Given the description of an element on the screen output the (x, y) to click on. 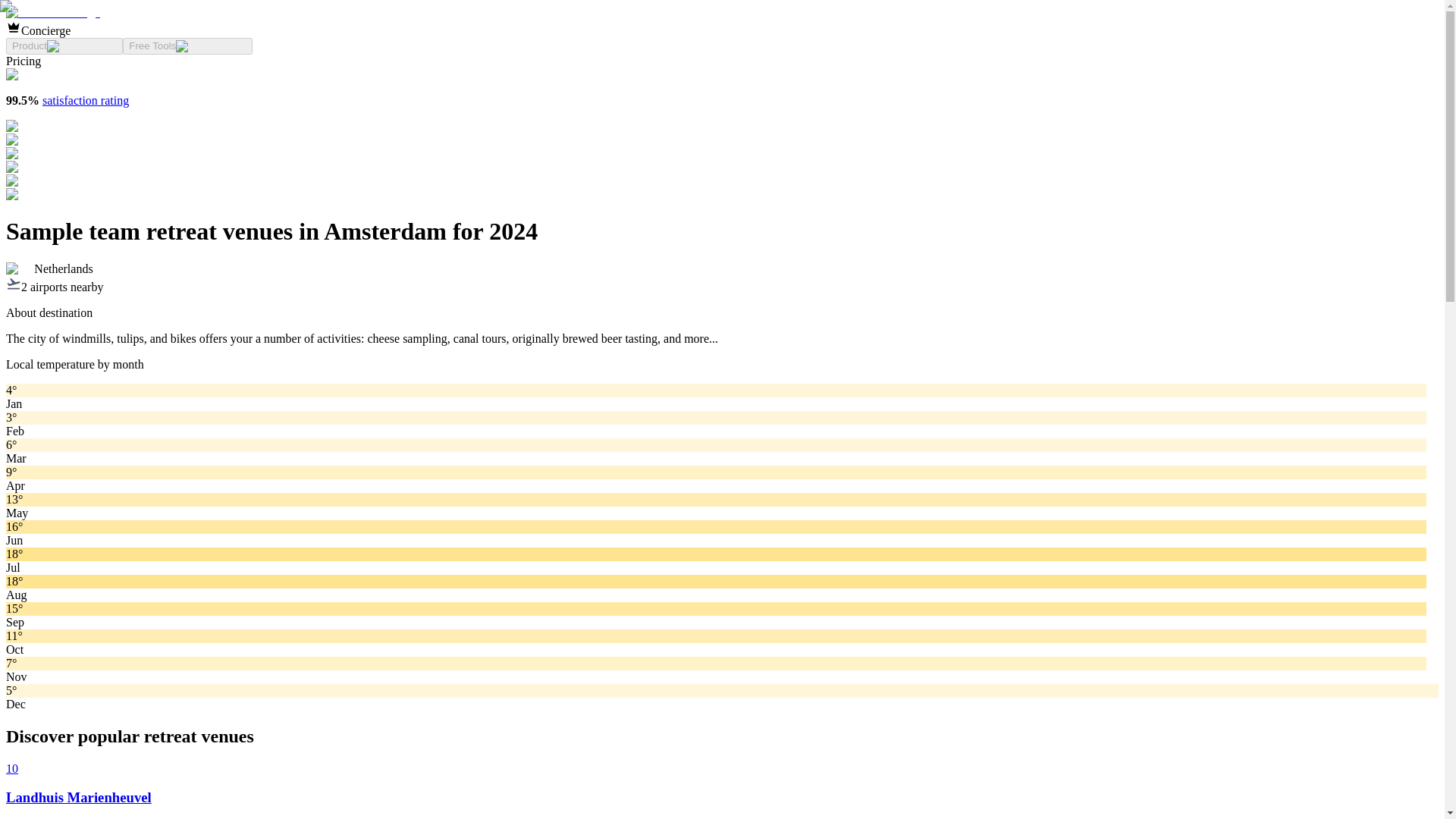
Product (63, 45)
Free Tools (186, 45)
satisfaction rating (85, 100)
